Given the description of an element on the screen output the (x, y) to click on. 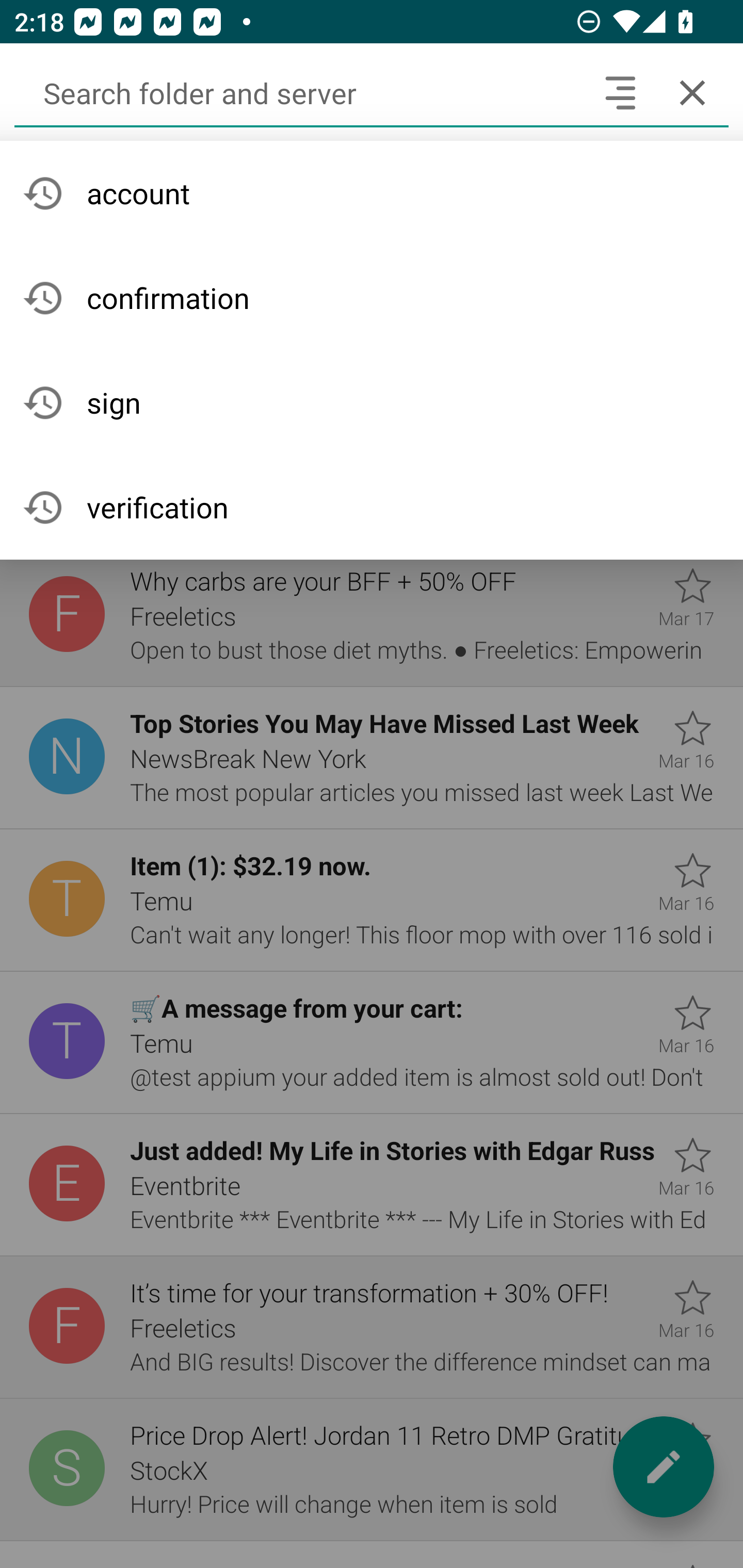
   Search folder and server (298, 92)
Search headers and text (619, 92)
Cancel (692, 92)
